Given the description of an element on the screen output the (x, y) to click on. 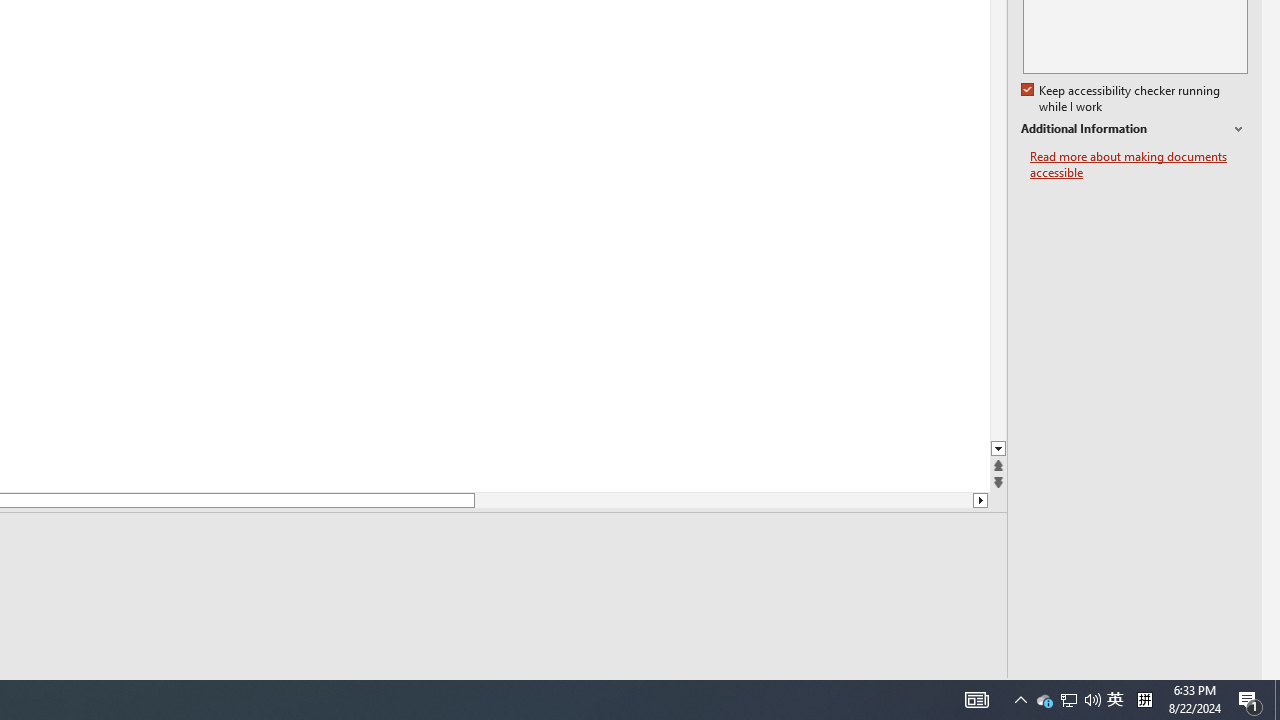
Slide Show Next On (924, 691)
Menu On (892, 691)
Slide Show Previous On (860, 691)
